Given the description of an element on the screen output the (x, y) to click on. 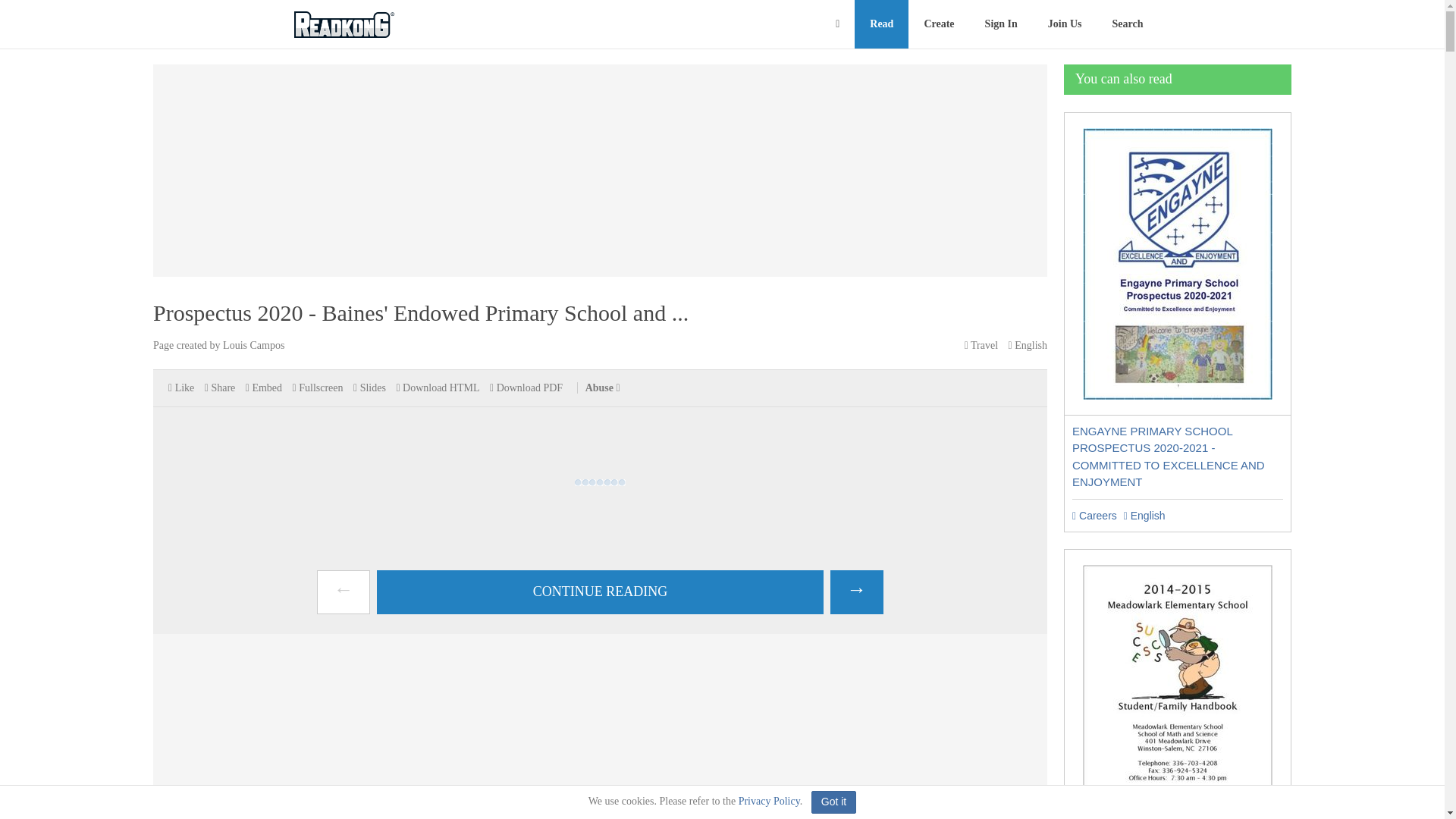
Travel (980, 345)
Join Us (1064, 24)
Sign In (1000, 24)
Share (220, 387)
English (1145, 515)
Search (1127, 24)
English (1027, 345)
